Given the description of an element on the screen output the (x, y) to click on. 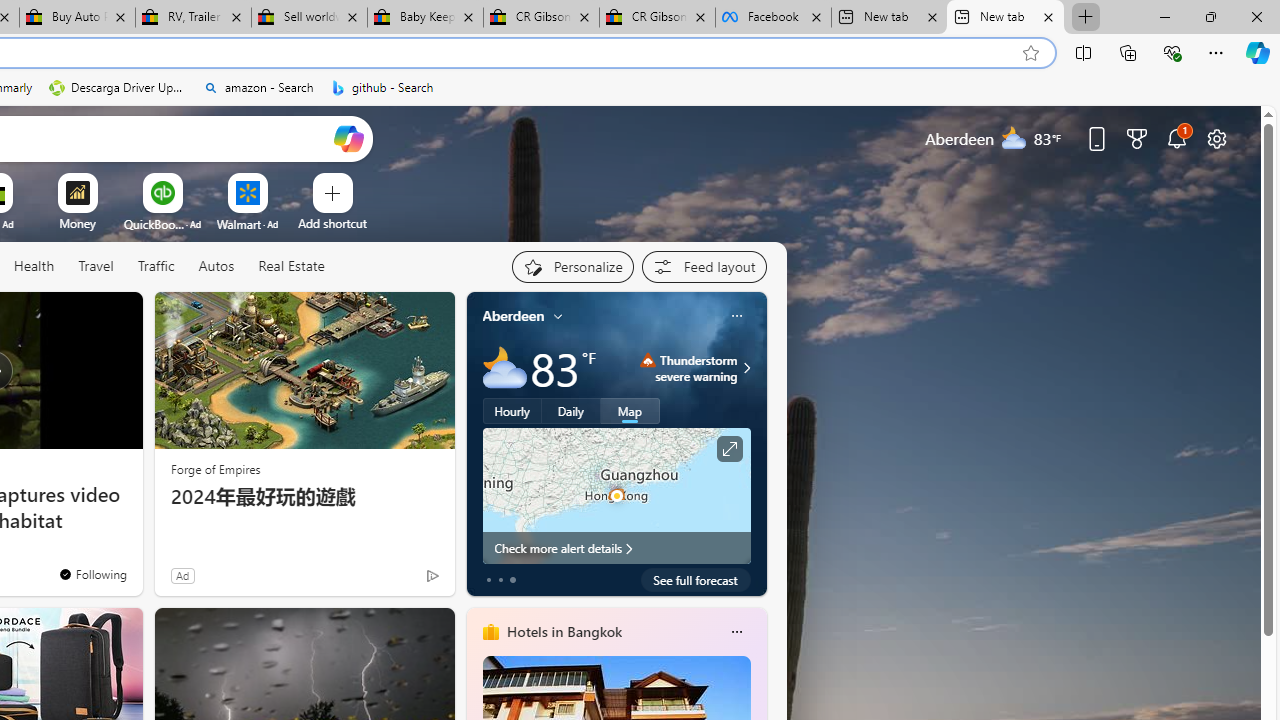
Microsoft rewards (1137, 138)
Mostly cloudy (504, 368)
tab-0 (488, 579)
Thunderstorm - Severe Thunderstorm severe warning (689, 367)
Daily (571, 411)
See full forecast (695, 579)
Feed settings (703, 266)
tab-2 (511, 579)
Page settings (1216, 138)
